Given the description of an element on the screen output the (x, y) to click on. 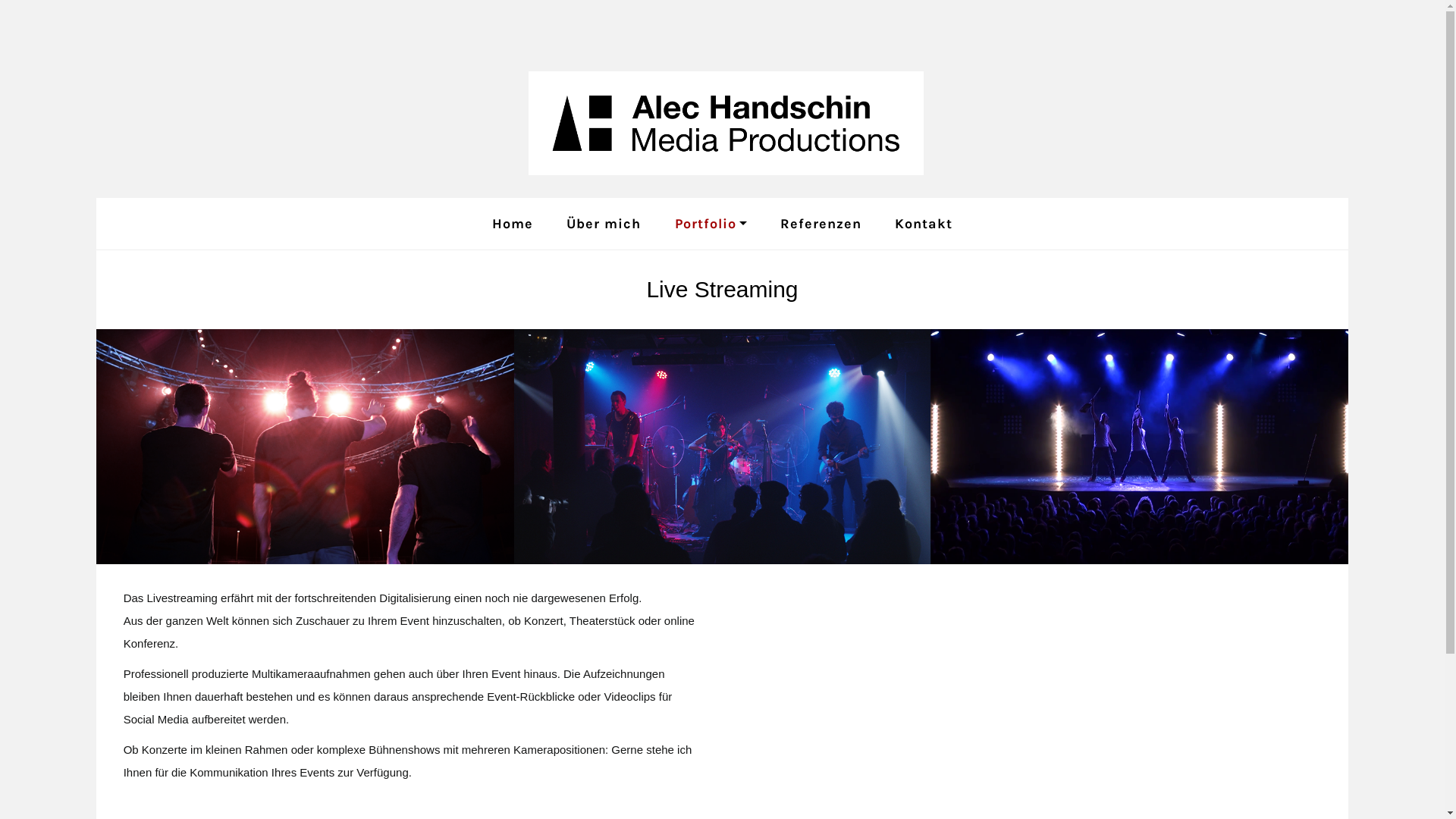
Referenzen Element type: text (820, 223)
Alec Handschin Media Productions Element type: hover (725, 123)
Home Element type: text (512, 223)
Kontakt Element type: text (923, 223)
